Given the description of an element on the screen output the (x, y) to click on. 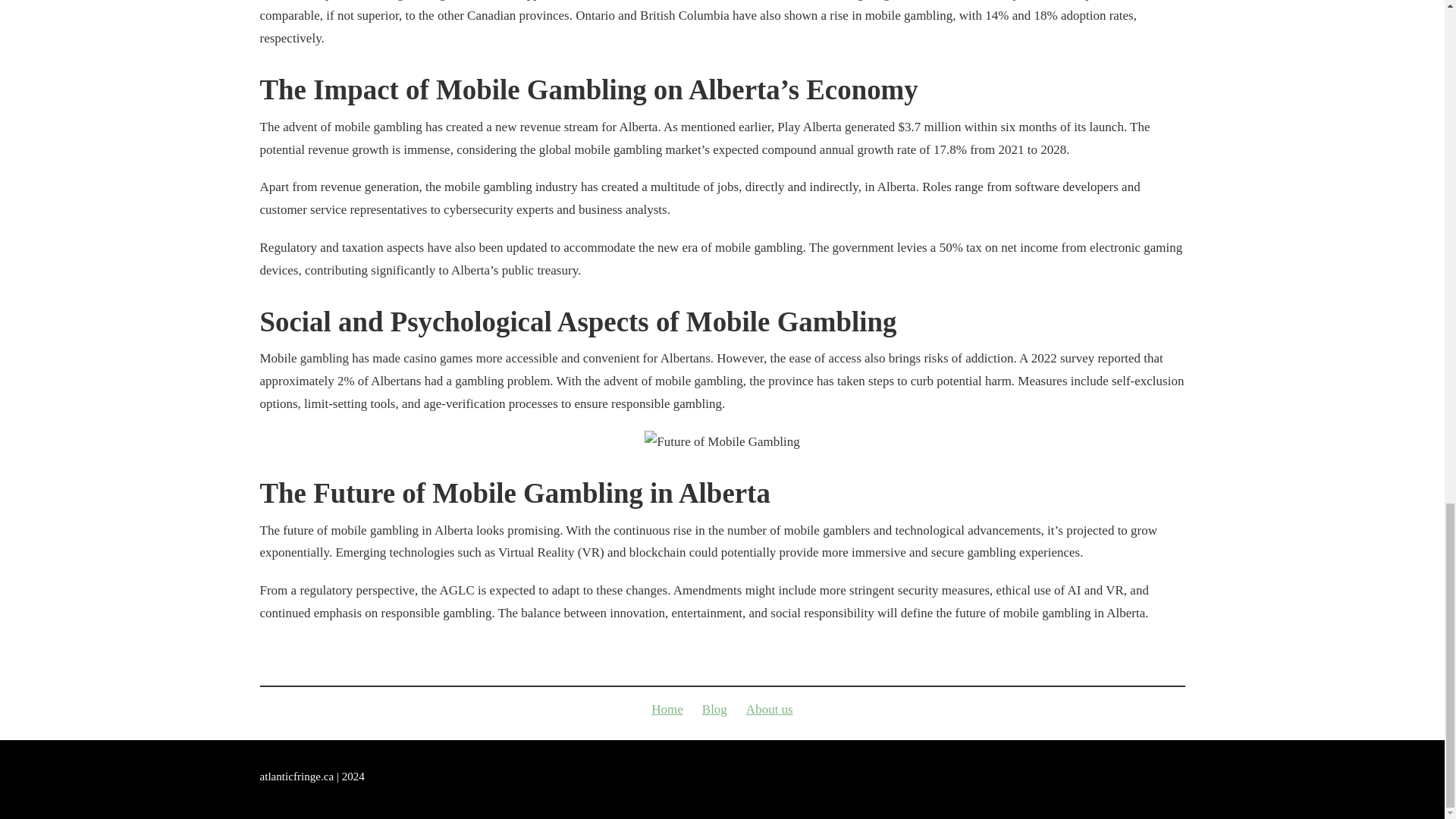
Home (666, 708)
About us (769, 708)
Blog (713, 708)
